Given the description of an element on the screen output the (x, y) to click on. 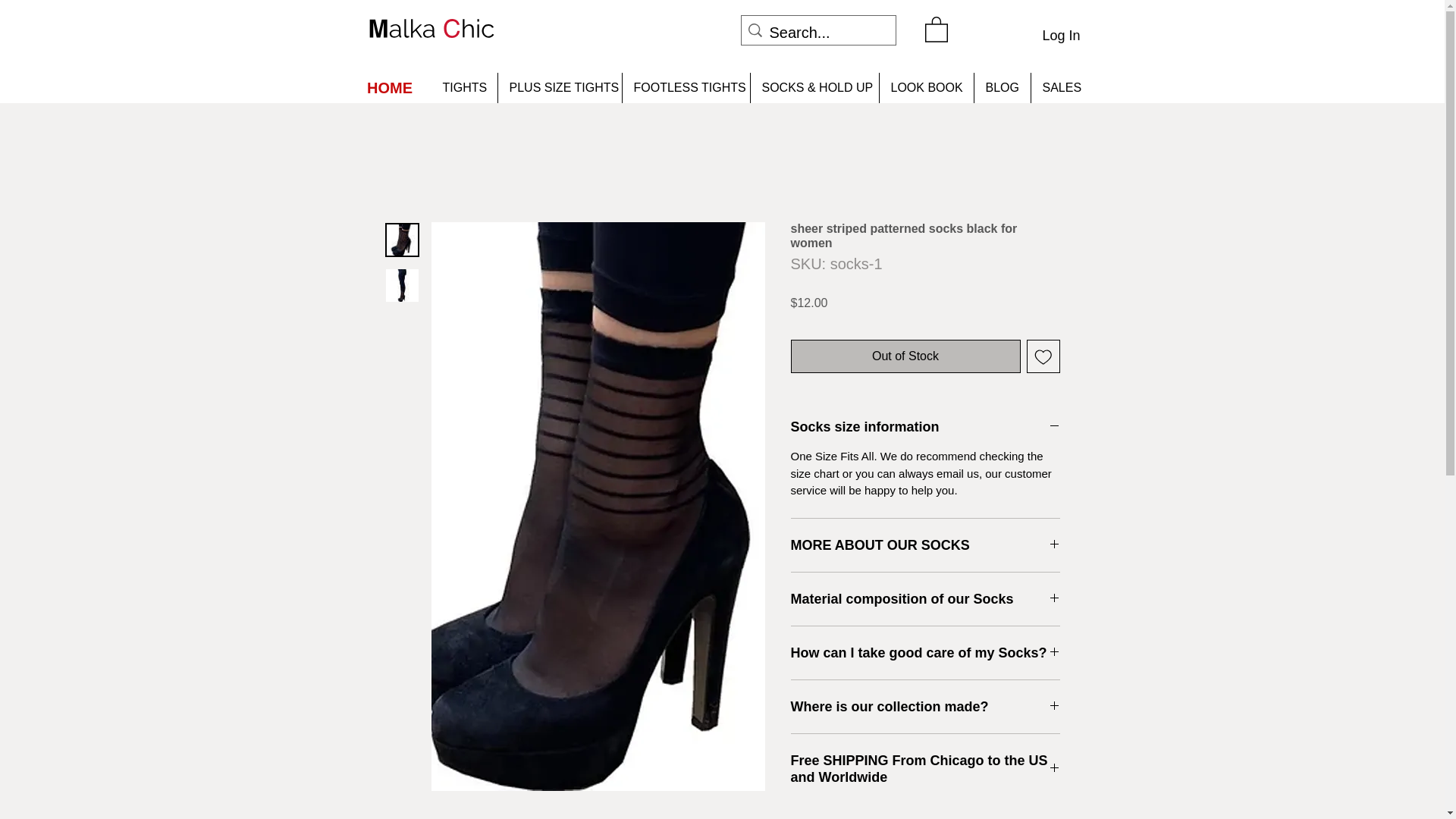
LOOK BOOK (924, 87)
Free SHIPPING From Chicago to the US and Worldwide (924, 768)
SALES (1059, 87)
Material composition of our Socks (924, 598)
Out of Stock (905, 356)
MORE ABOUT OUR SOCKS (924, 545)
How can I take good care of my Socks? (924, 652)
BLOG (1002, 87)
HOME (389, 87)
PLUS SIZE TIGHTS (559, 87)
